Given the description of an element on the screen output the (x, y) to click on. 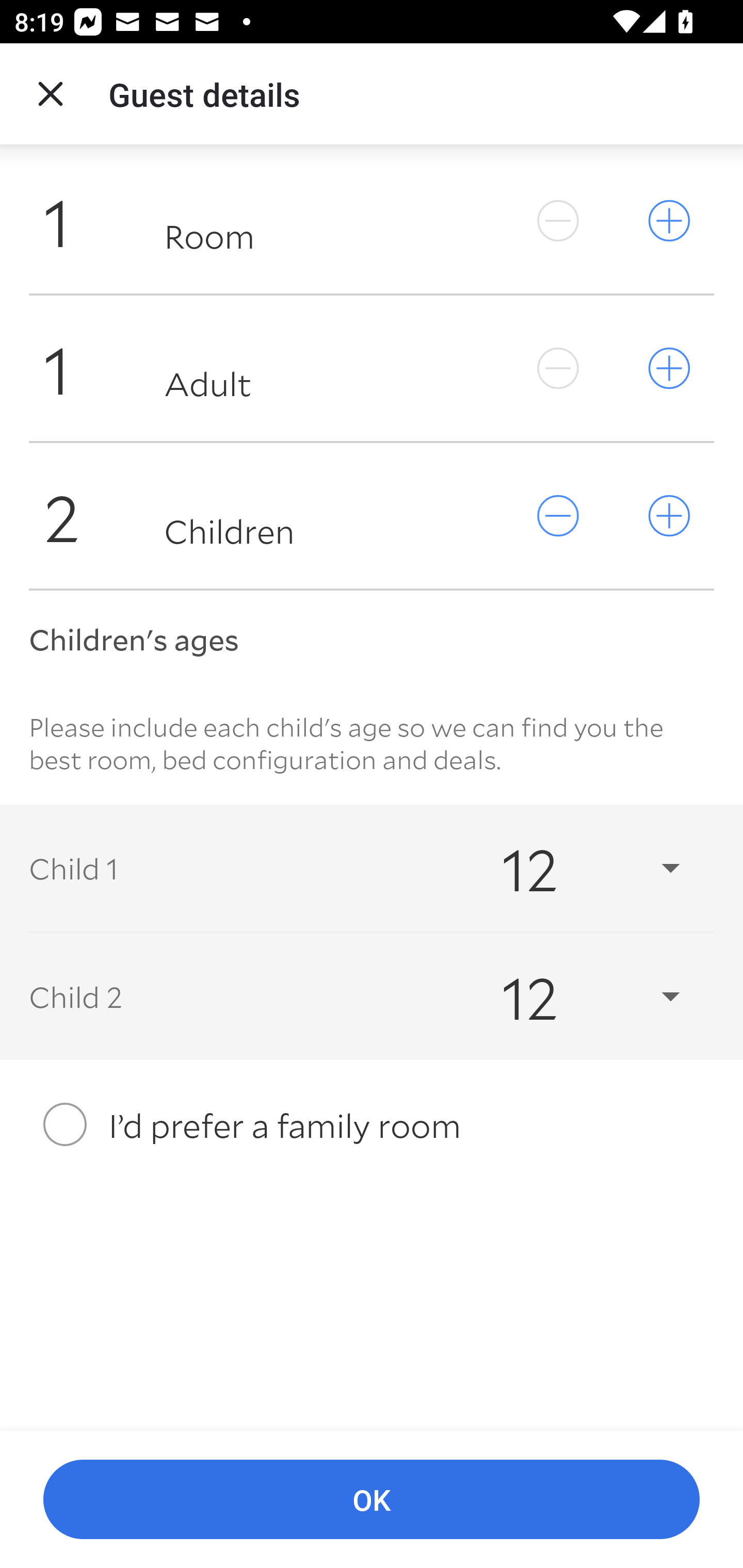
12 (573, 867)
12 (573, 996)
I’d prefer a family room (371, 1124)
OK (371, 1499)
